Given the description of an element on the screen output the (x, y) to click on. 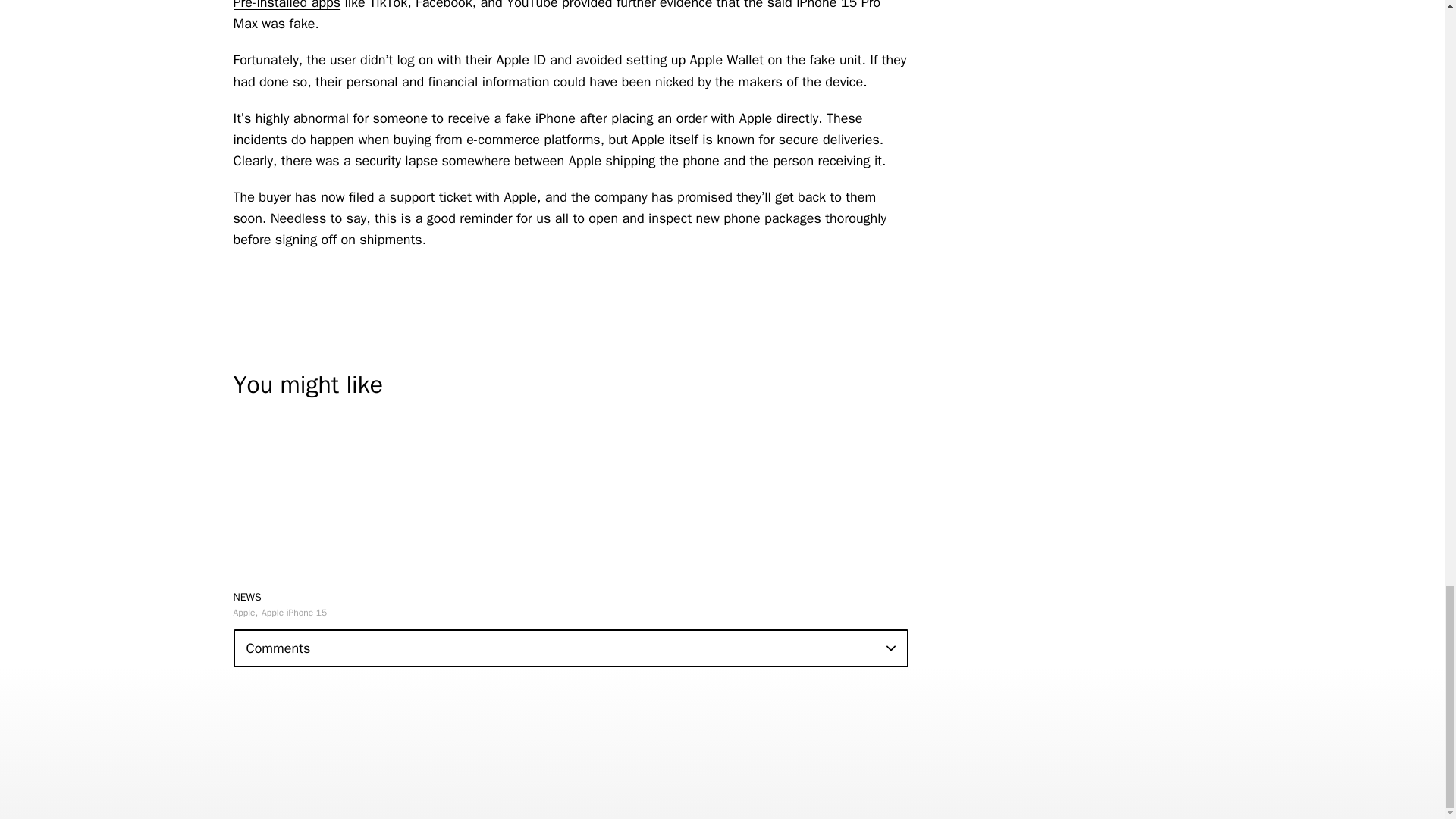
Pre-installed apps (286, 5)
NEWS (247, 596)
Apple (245, 612)
Comments (570, 648)
Apple iPhone 15 (294, 612)
